Given the description of an element on the screen output the (x, y) to click on. 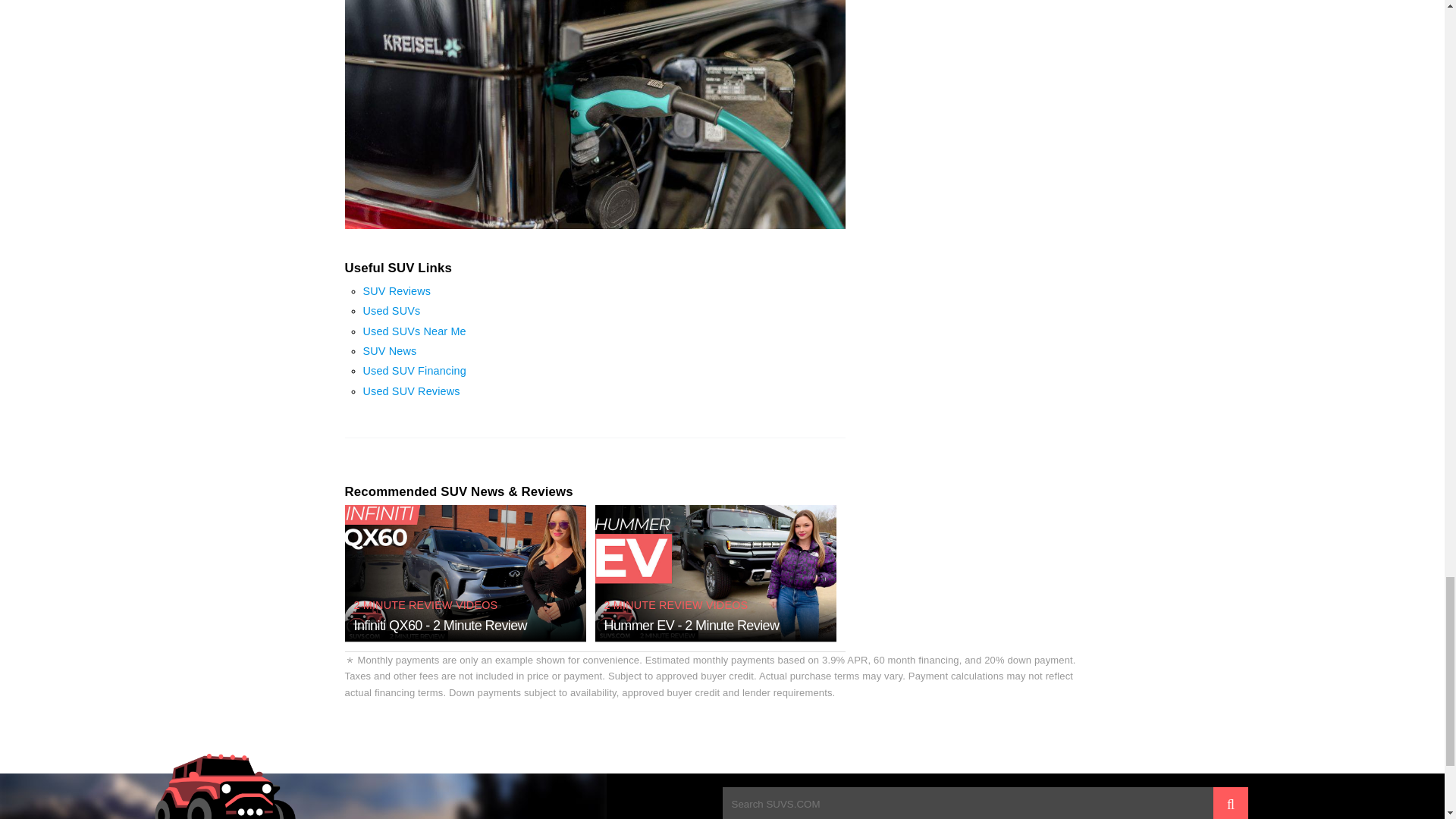
Used SUV Reviews (411, 390)
SUV Reviews (396, 291)
SUV news, reviews, and used cars for sale. (219, 786)
Used SUV Financing (413, 370)
Hummer EV - 2 Minute Review (691, 625)
Infiniti QX60 - 2 Minute Review (440, 625)
SUV News (389, 350)
Used SUVs Near Me (413, 331)
Used SUVs (391, 310)
